Given the description of an element on the screen output the (x, y) to click on. 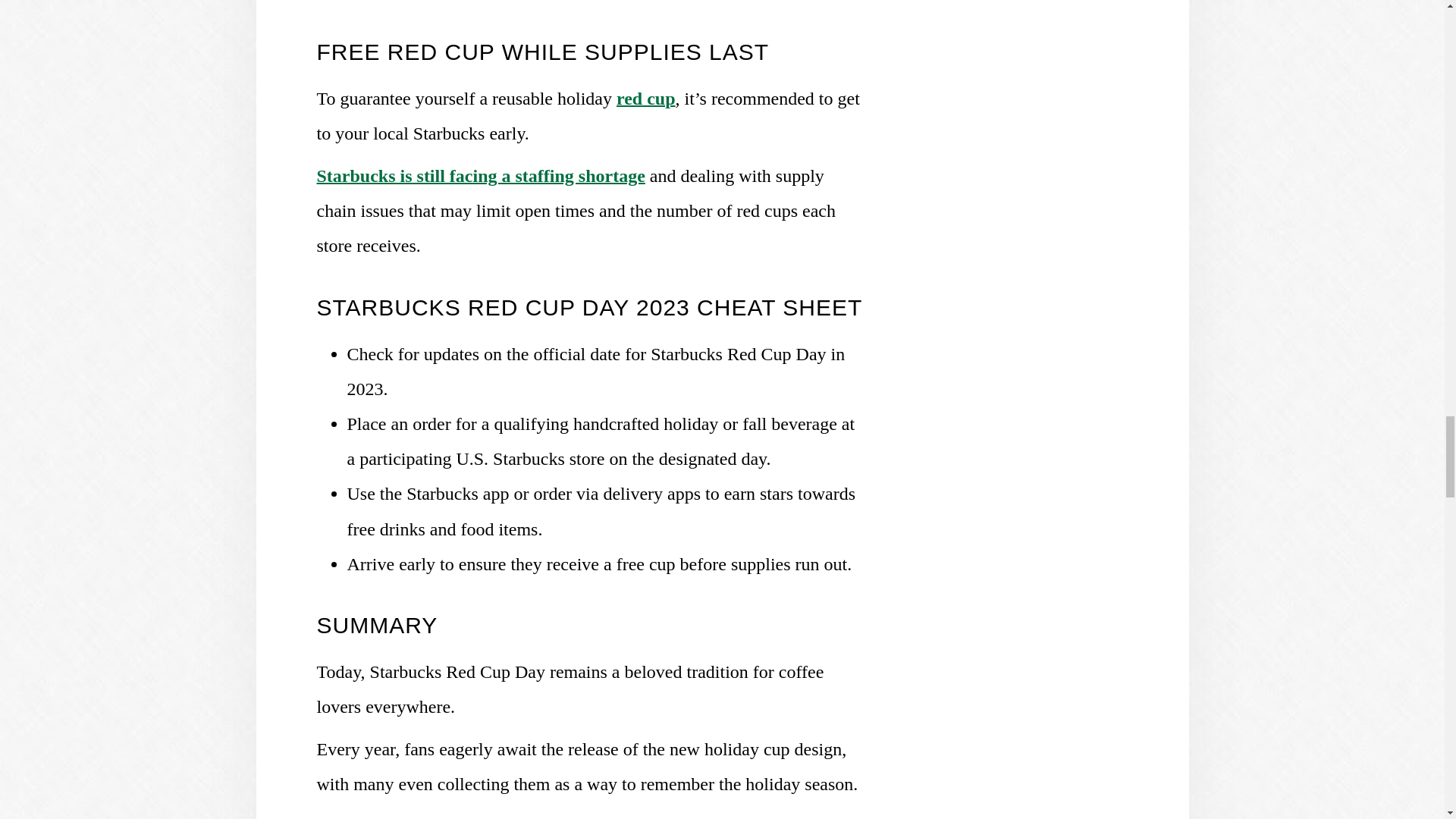
Starbucks is still facing a staffing shortage (481, 175)
red cup (645, 98)
